Given the description of an element on the screen output the (x, y) to click on. 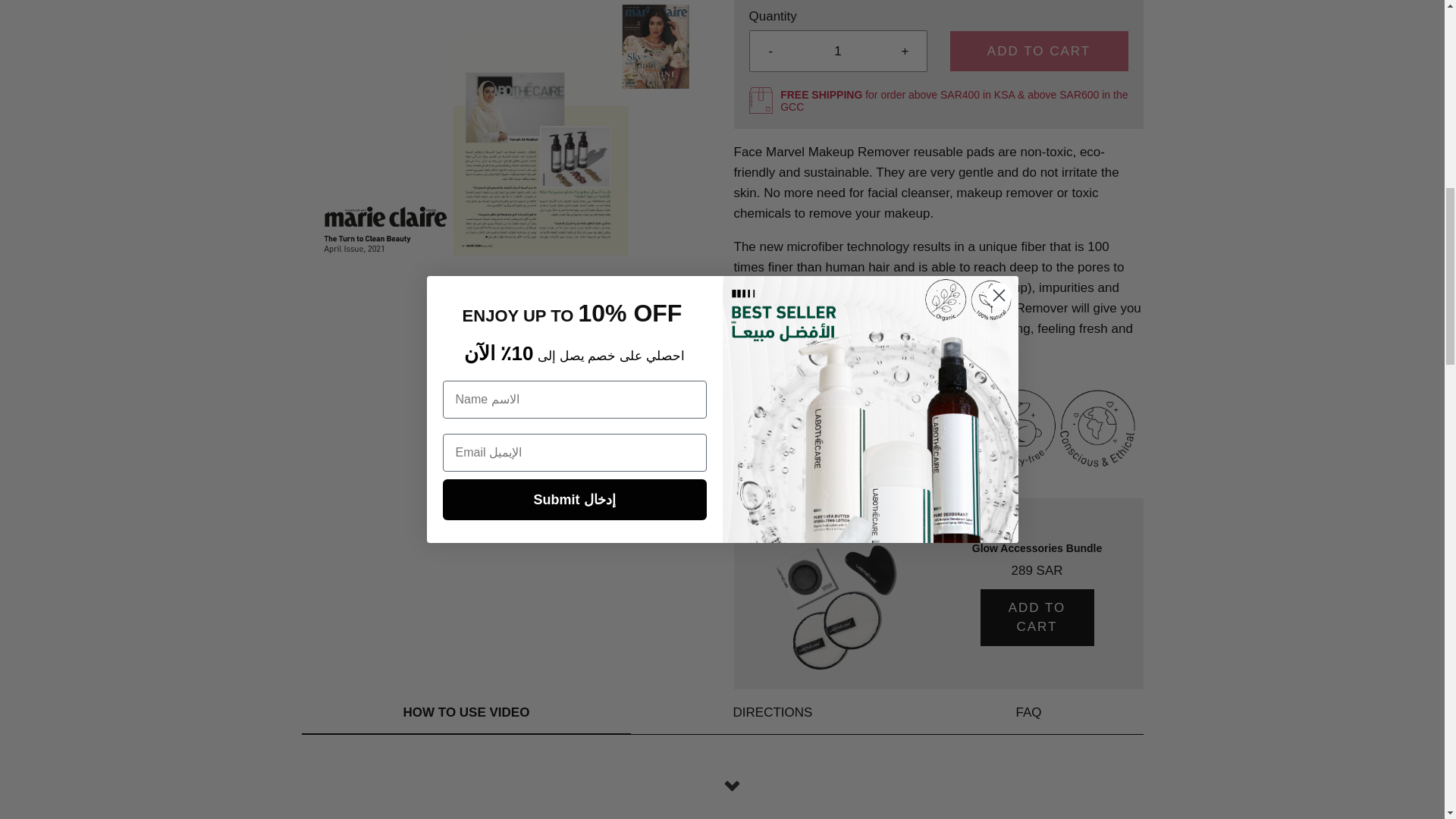
YouTube video player (721, 801)
1 (836, 51)
